Given the description of an element on the screen output the (x, y) to click on. 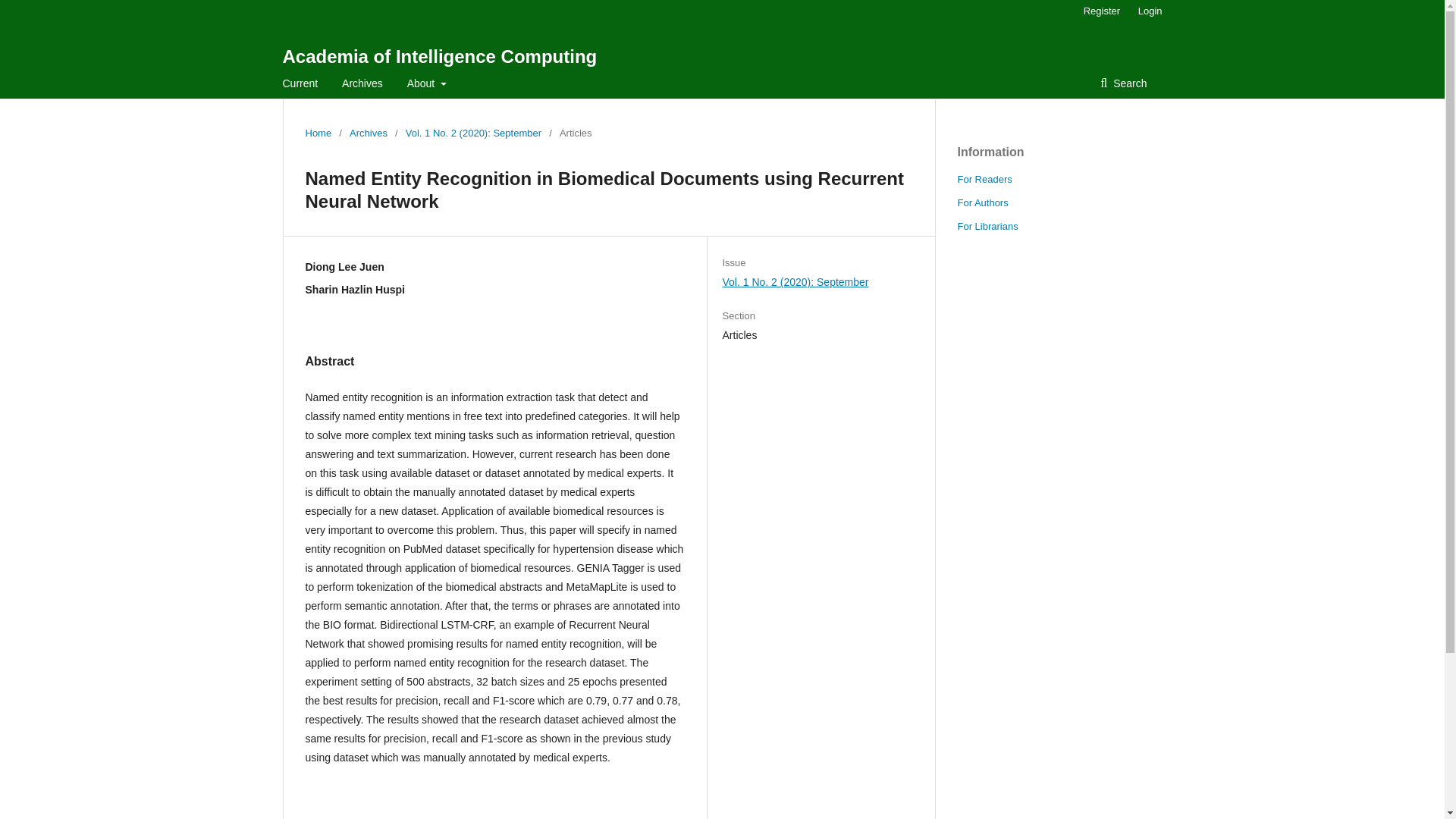
For Authors (981, 202)
Register (1100, 11)
For Librarians (986, 225)
Academia of Intelligence Computing (439, 56)
Search (1122, 82)
About (426, 82)
Login (1146, 11)
Archives (368, 133)
Current (299, 82)
Home (317, 133)
